Given the description of an element on the screen output the (x, y) to click on. 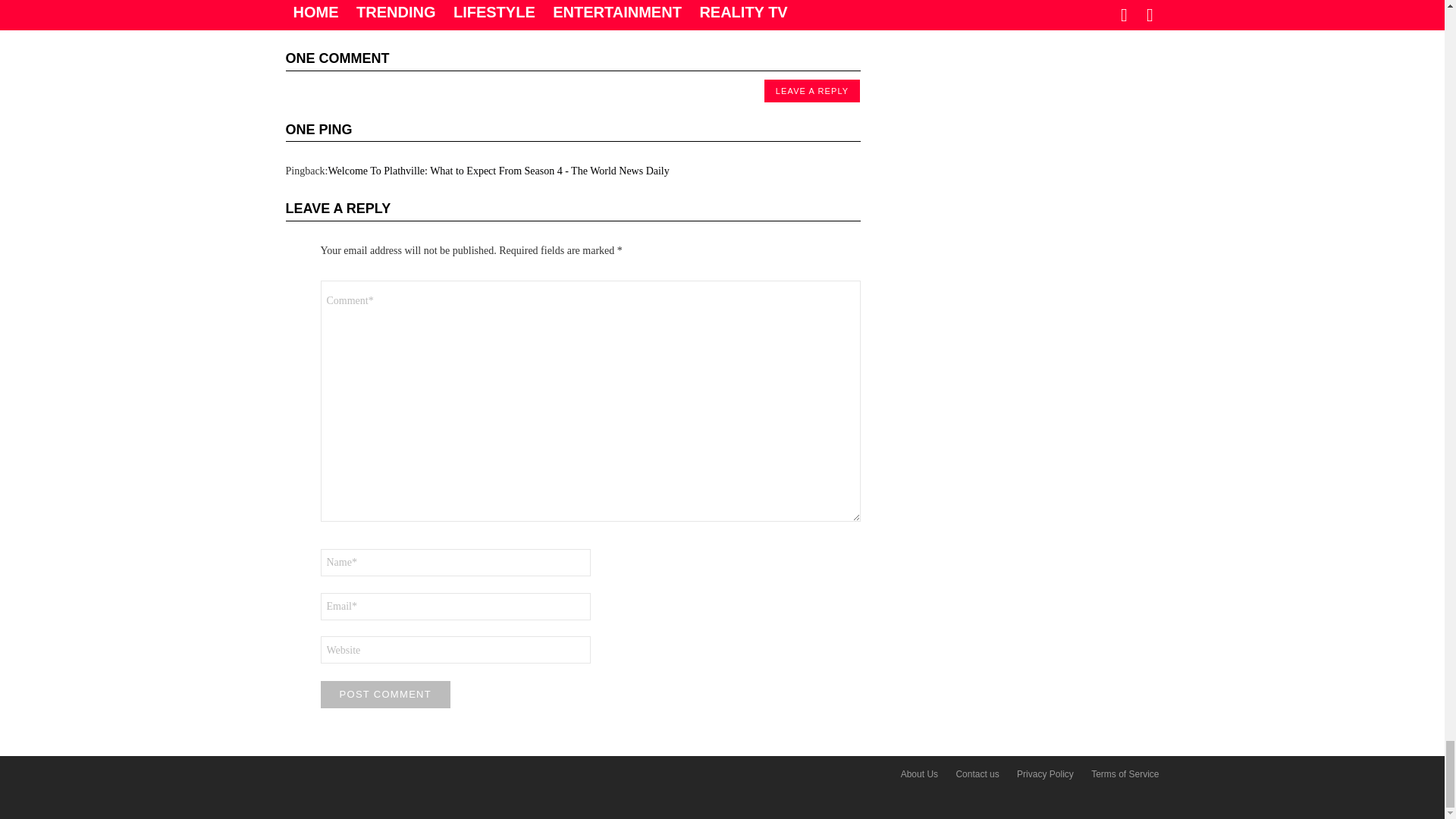
Post Comment (384, 694)
